Given the description of an element on the screen output the (x, y) to click on. 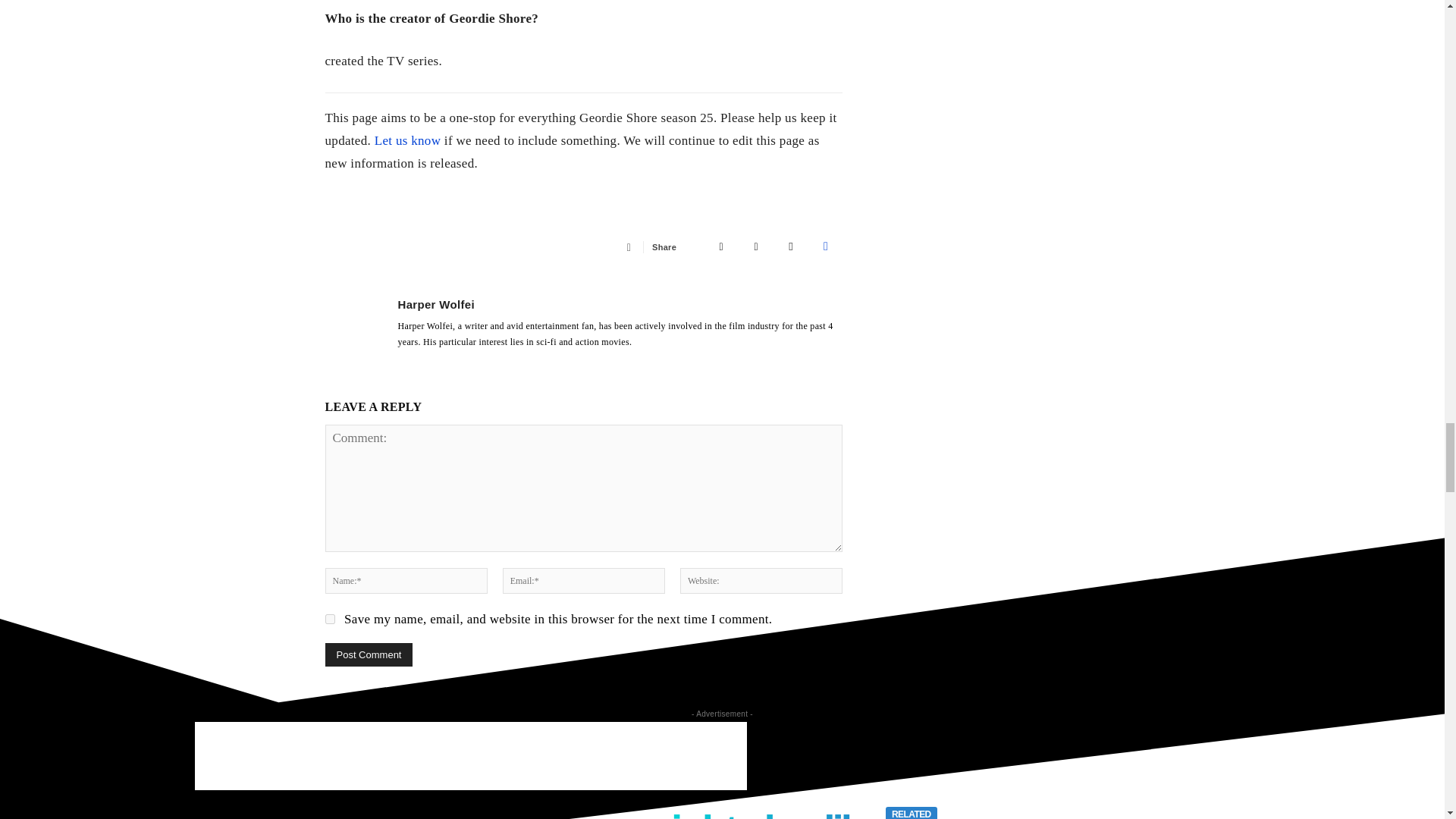
yes (329, 619)
Post Comment (368, 654)
